Given the description of an element on the screen output the (x, y) to click on. 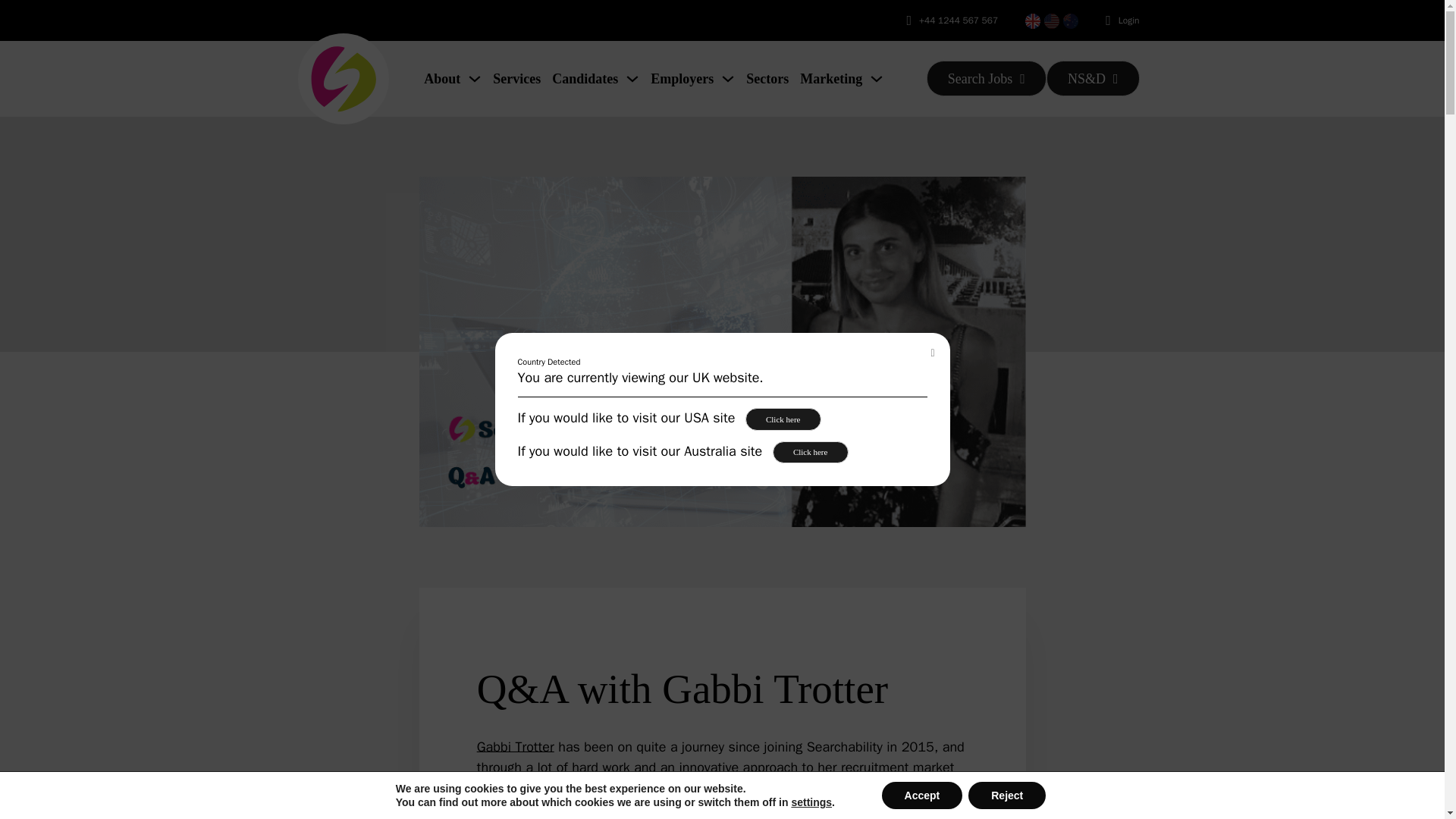
Login (1129, 20)
Sectors (767, 78)
Candidates (584, 78)
Employers (681, 78)
Marketing (830, 78)
Services (516, 78)
About (441, 78)
